Given the description of an element on the screen output the (x, y) to click on. 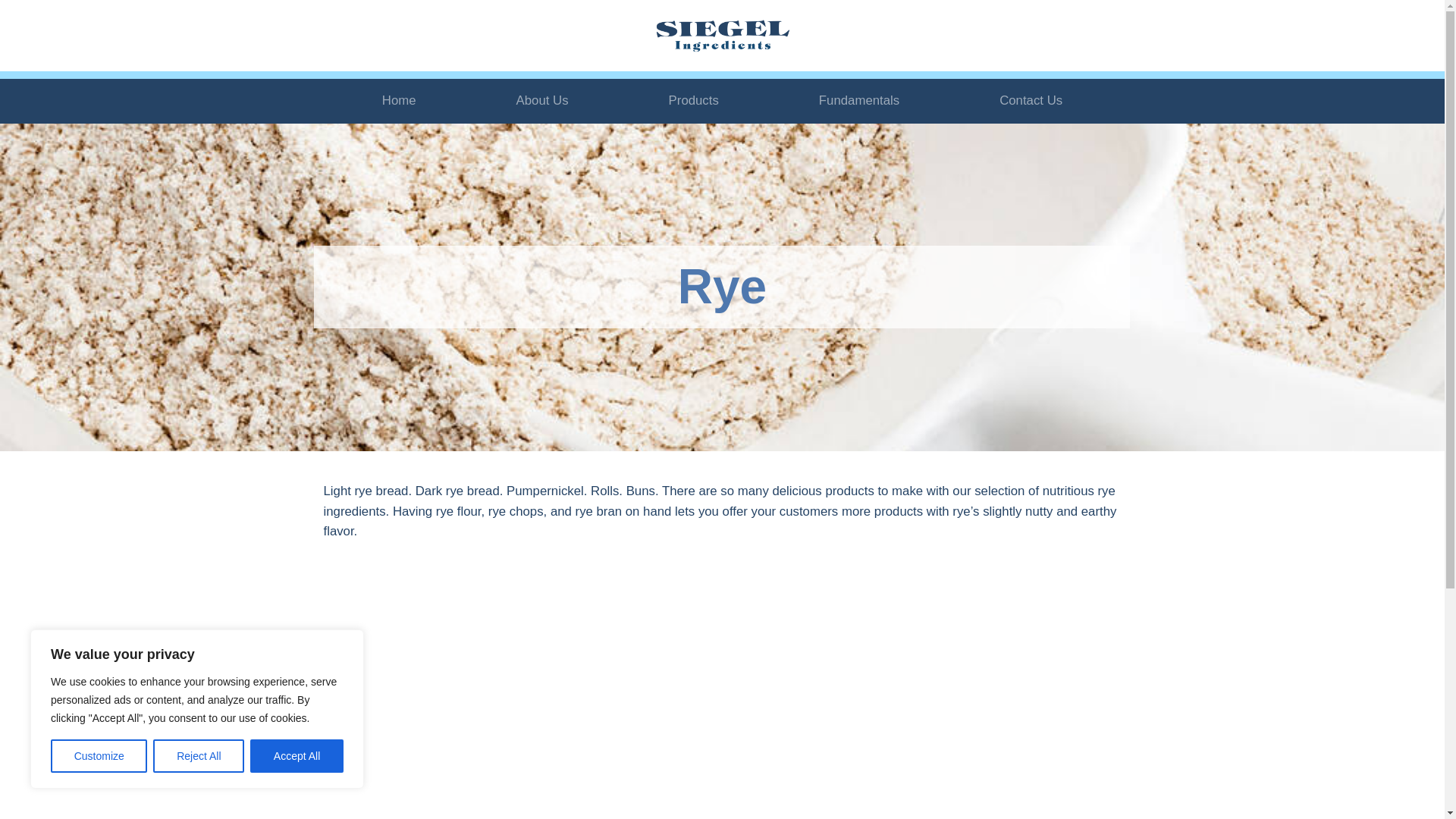
Accept All (296, 756)
Products (693, 101)
Reject All (198, 756)
Fundamentals (858, 101)
Customize (98, 756)
Home (398, 101)
About Us (543, 101)
Contact Us (1030, 101)
